Given the description of an element on the screen output the (x, y) to click on. 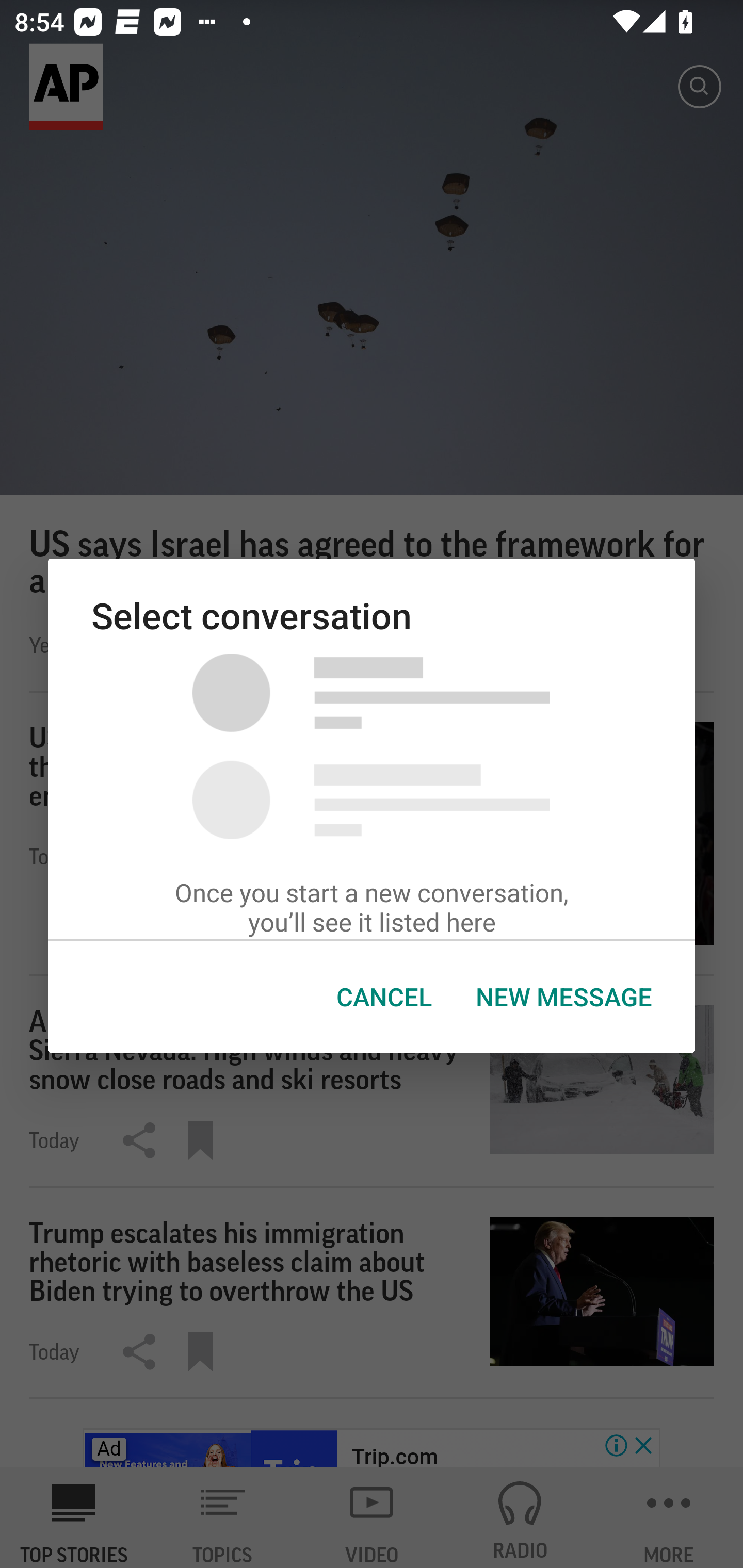
CANCEL (384, 996)
NEW MESSAGE (563, 996)
